Given the description of an element on the screen output the (x, y) to click on. 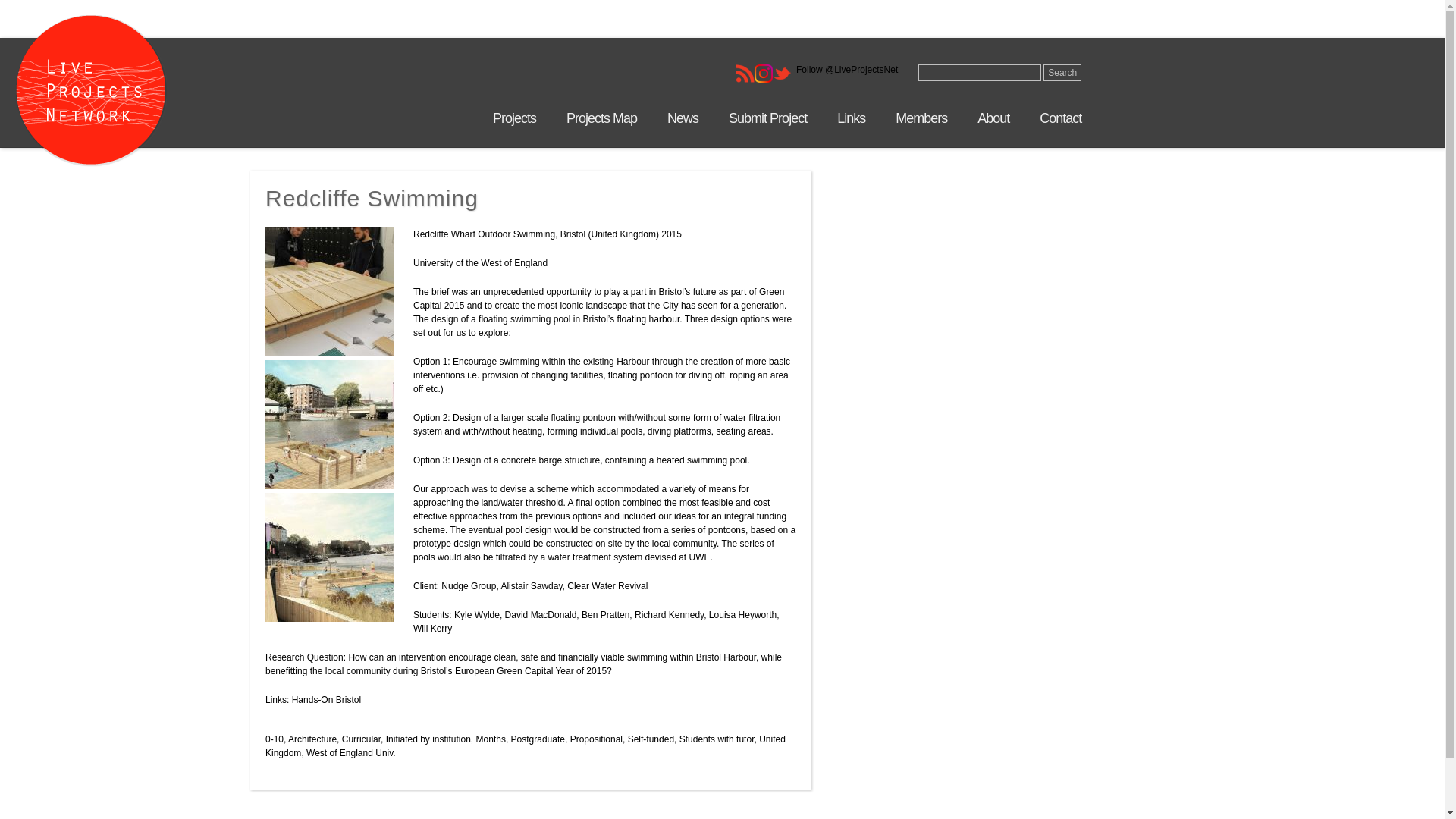
Projects (514, 118)
Students with tutor (716, 738)
Months (490, 738)
University of the West of England  (481, 262)
Self-funded (650, 738)
West of England Univ. (350, 752)
0-10 (273, 738)
Curricular (361, 738)
Links (850, 118)
Members (921, 118)
About (992, 118)
Submit Project (767, 118)
Architecture (312, 738)
Live Projects Network (90, 92)
Propositional (596, 738)
